Given the description of an element on the screen output the (x, y) to click on. 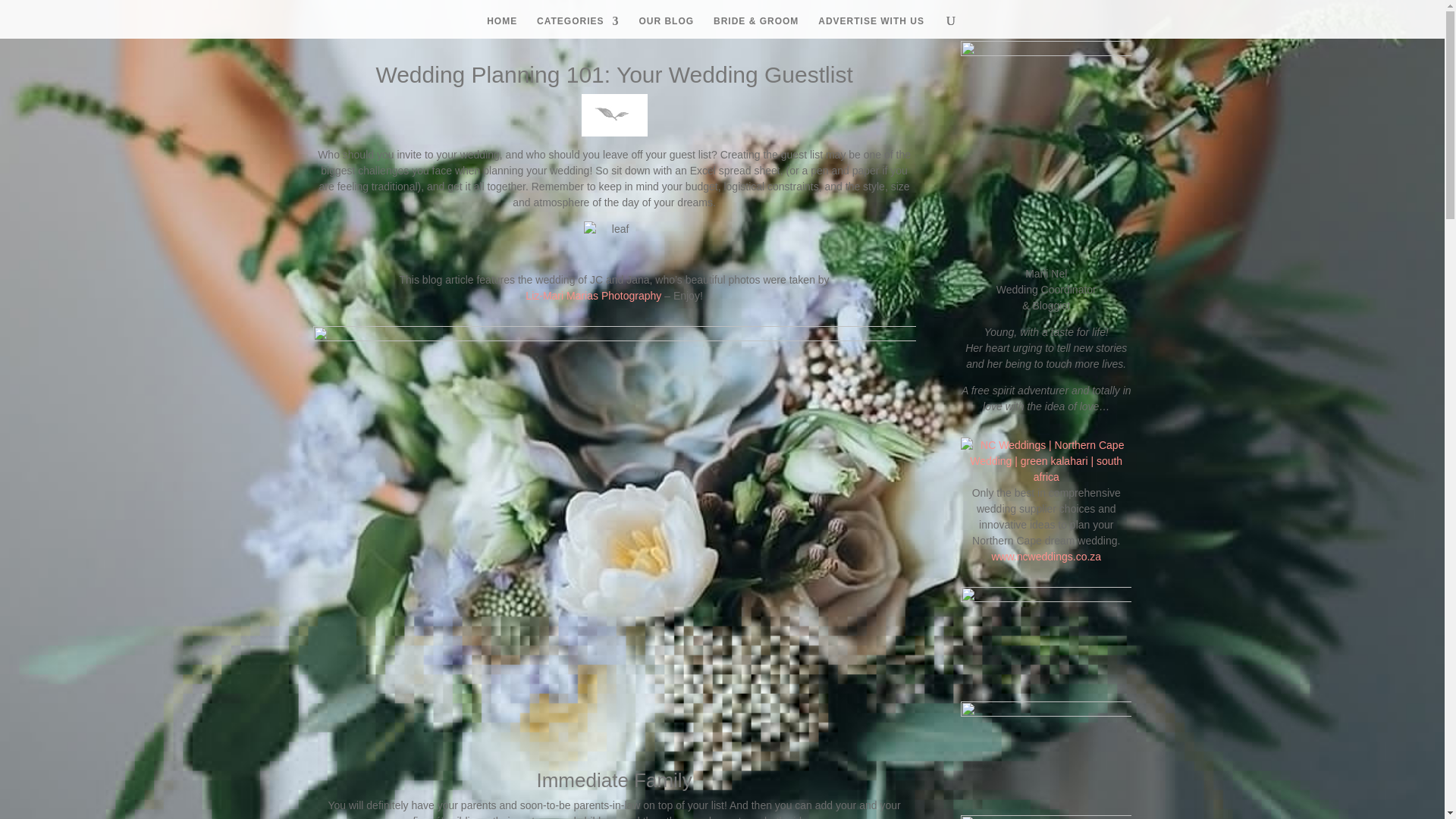
HOME (501, 26)
www.ncweddings.co.za (1045, 556)
OUR BLOG (666, 26)
CATEGORIES (577, 26)
Liz-Mari Marias Photography (593, 295)
ADVERTISE WITH US (871, 26)
